Given the description of an element on the screen output the (x, y) to click on. 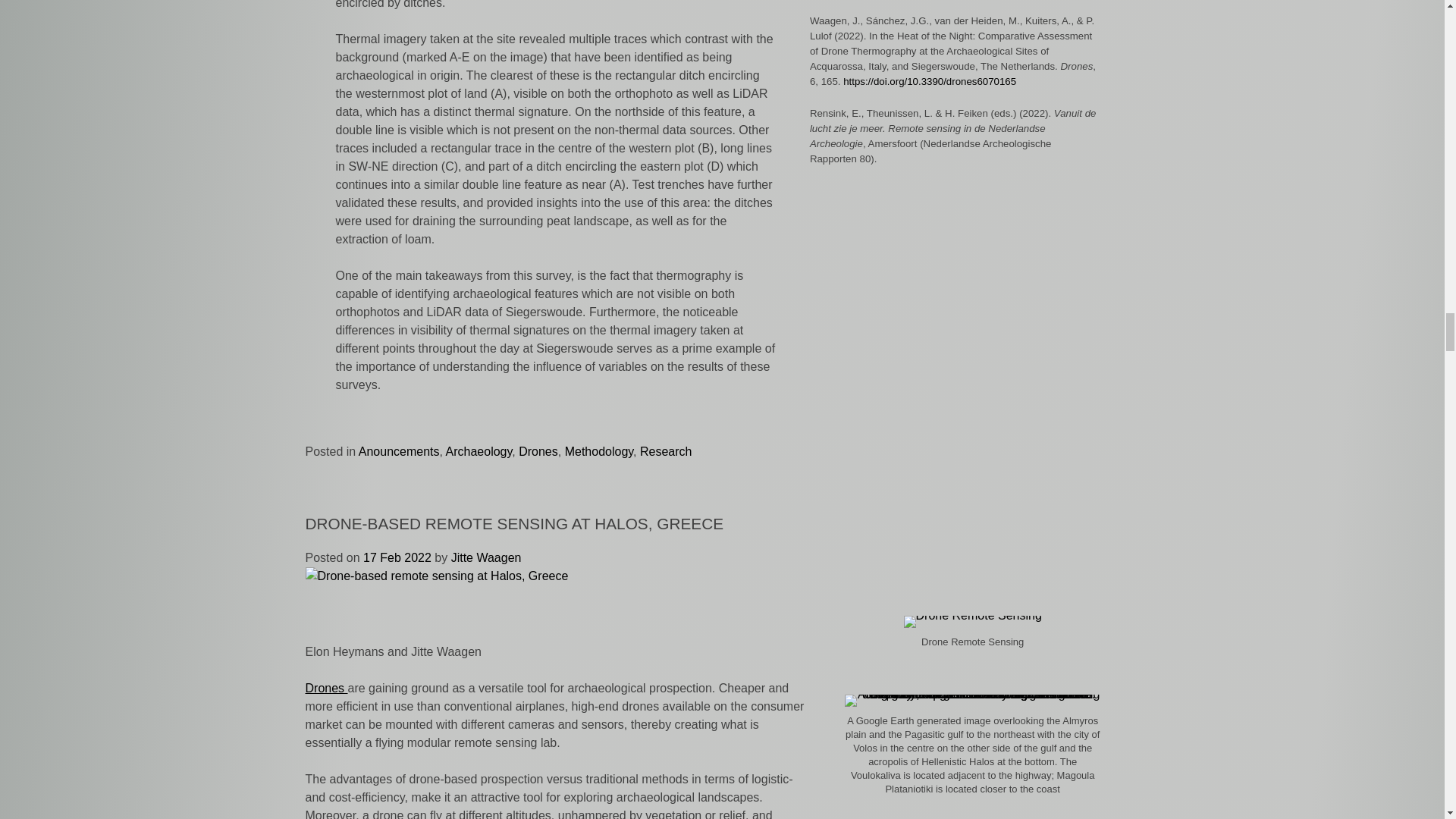
google earth Voulokaliva (972, 700)
